Given the description of an element on the screen output the (x, y) to click on. 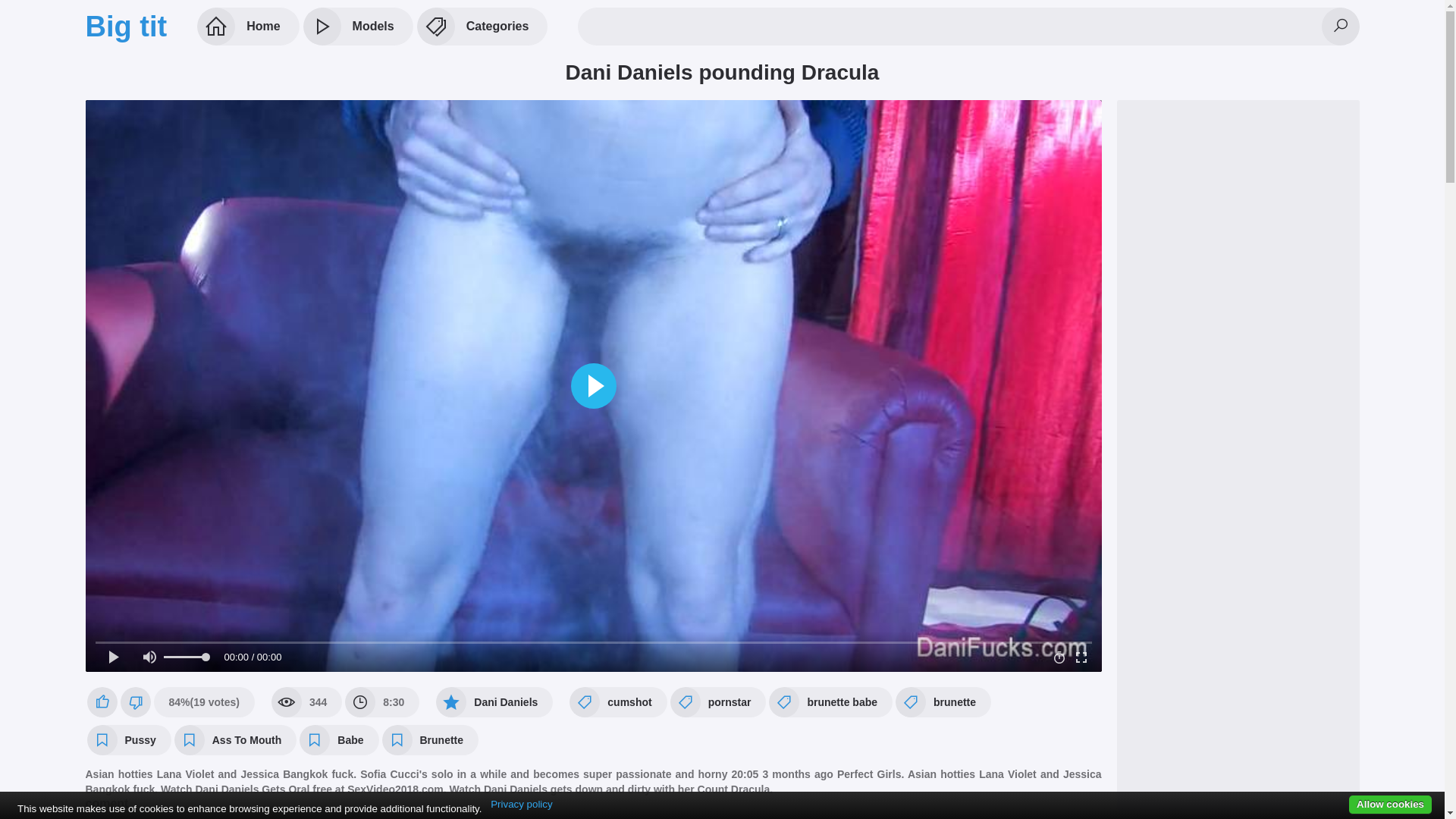
Dani Daniels Element type: text (494, 702)
Ass To Mouth Element type: text (235, 739)
Home Element type: text (247, 26)
Babe Element type: text (338, 739)
Dislike! Element type: hover (134, 702)
Search Element type: hover (1339, 26)
Models Element type: text (358, 26)
brunette Element type: text (943, 702)
pornstar Element type: text (718, 702)
Brunette Element type: text (430, 739)
Big tit Element type: text (125, 26)
Privacy policy Element type: text (521, 804)
Allow cookies Element type: text (1390, 804)
Pussy Element type: text (128, 739)
cumshot Element type: text (617, 702)
Like! Element type: hover (101, 702)
brunette babe Element type: text (830, 702)
Categories Element type: text (482, 26)
